Given the description of an element on the screen output the (x, y) to click on. 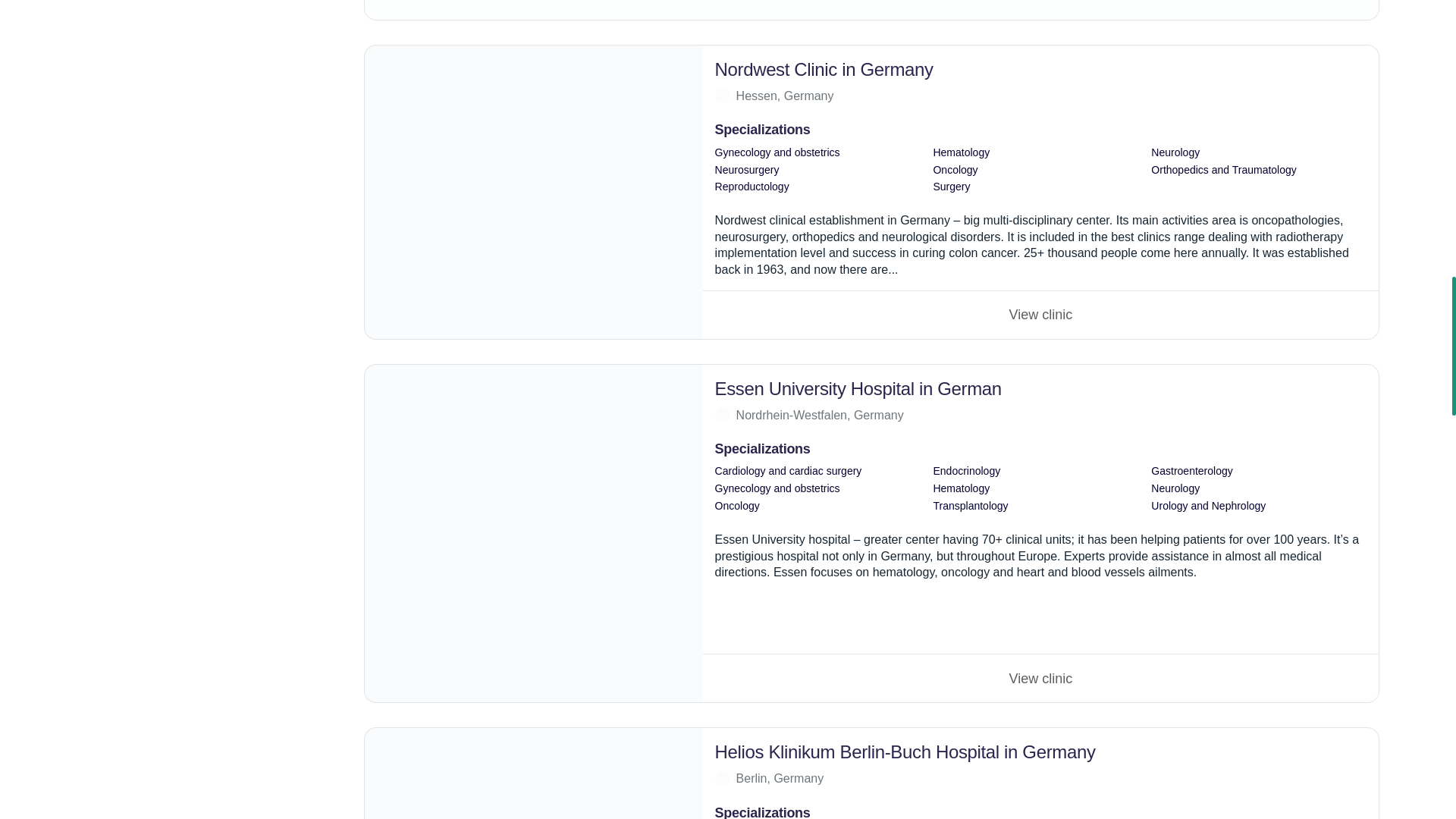
Helios Klinikum Berlin-Buch Hospital in Germany (534, 773)
Adenocarcinoma (1040, 677)
Essen University Hospital in German (534, 533)
Adenocarcinoma (1040, 314)
Nordwest Clinic in Germany (534, 192)
